Given the description of an element on the screen output the (x, y) to click on. 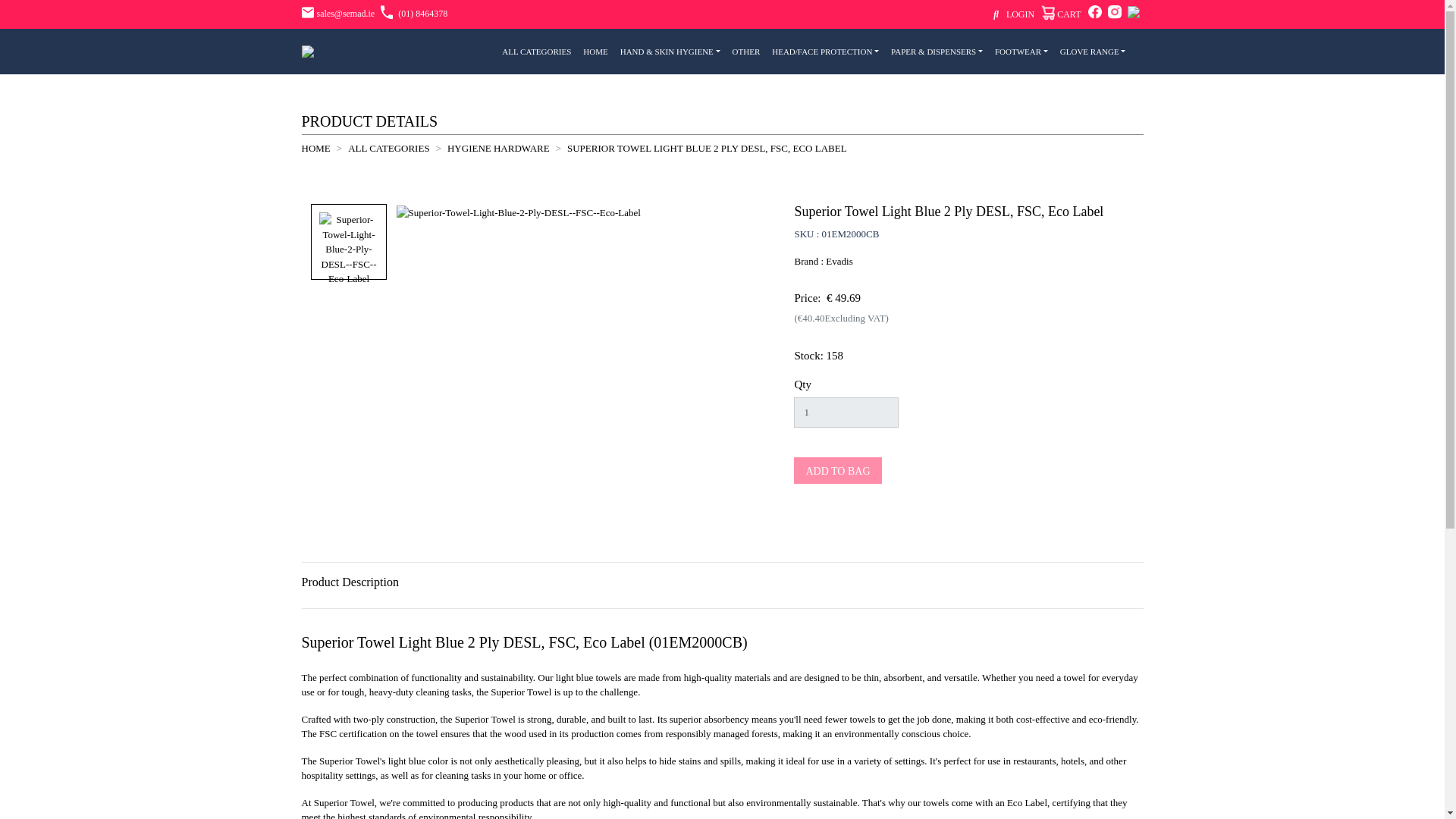
Email (338, 13)
Linkedin (1133, 13)
Phone (413, 13)
Instagram (1115, 13)
1 (845, 412)
FOOTWEAR (1021, 51)
LOGIN (1020, 14)
ALL CATEGORIES (536, 51)
CART (1061, 14)
Facebook (1095, 13)
